Given the description of an element on the screen output the (x, y) to click on. 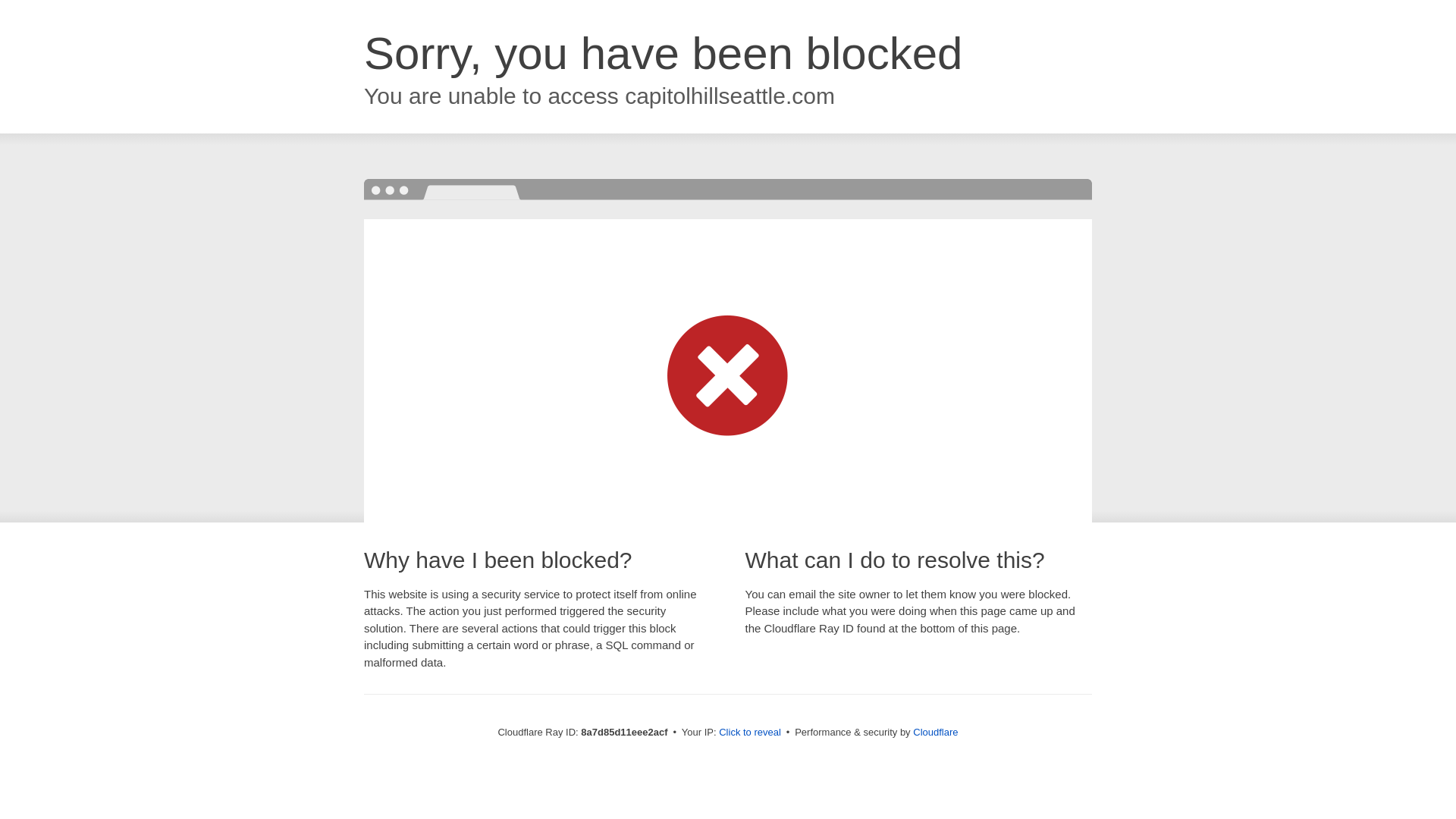
Click to reveal (749, 732)
Cloudflare (935, 731)
